Given the description of an element on the screen output the (x, y) to click on. 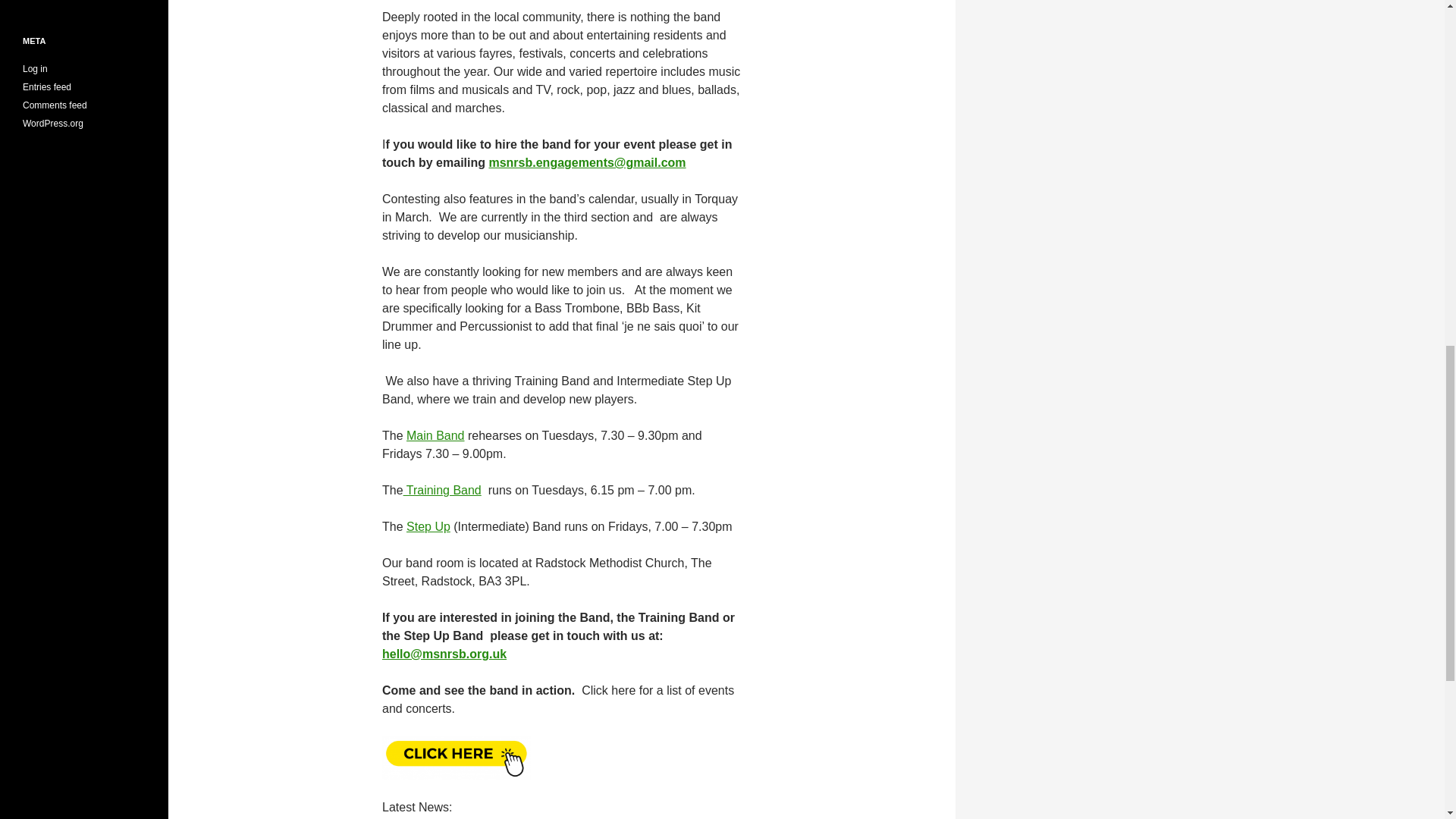
Training Band (442, 490)
Step Up (427, 526)
Main Band (435, 435)
Calendar (456, 756)
